Given the description of an element on the screen output the (x, y) to click on. 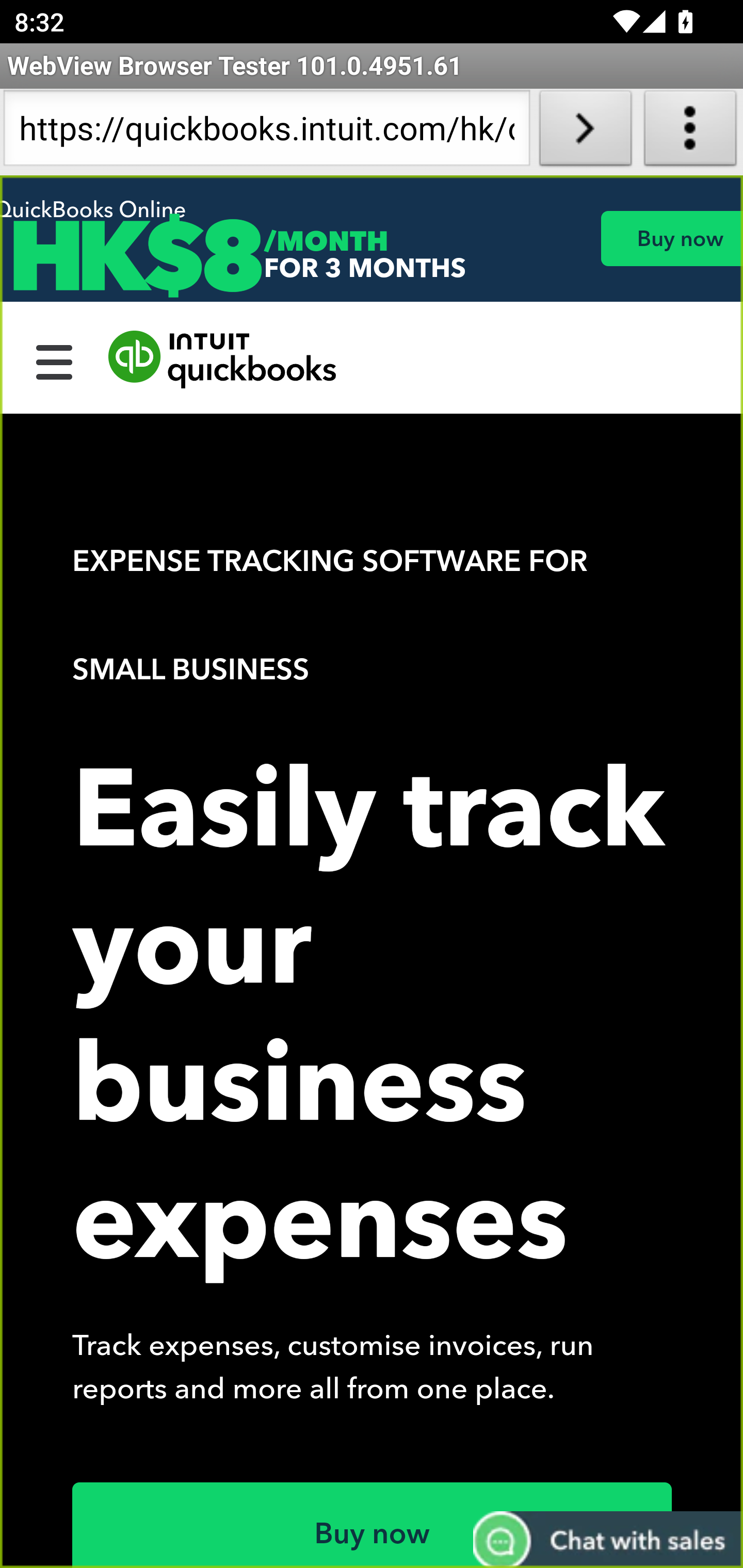
Load URL (585, 132)
About WebView (690, 132)
Buy now (671, 238)
quickbooks-mobile-burger (54, 359)
quickbooks (222, 359)
Buy now (372, 1524)
